Given the description of an element on the screen output the (x, y) to click on. 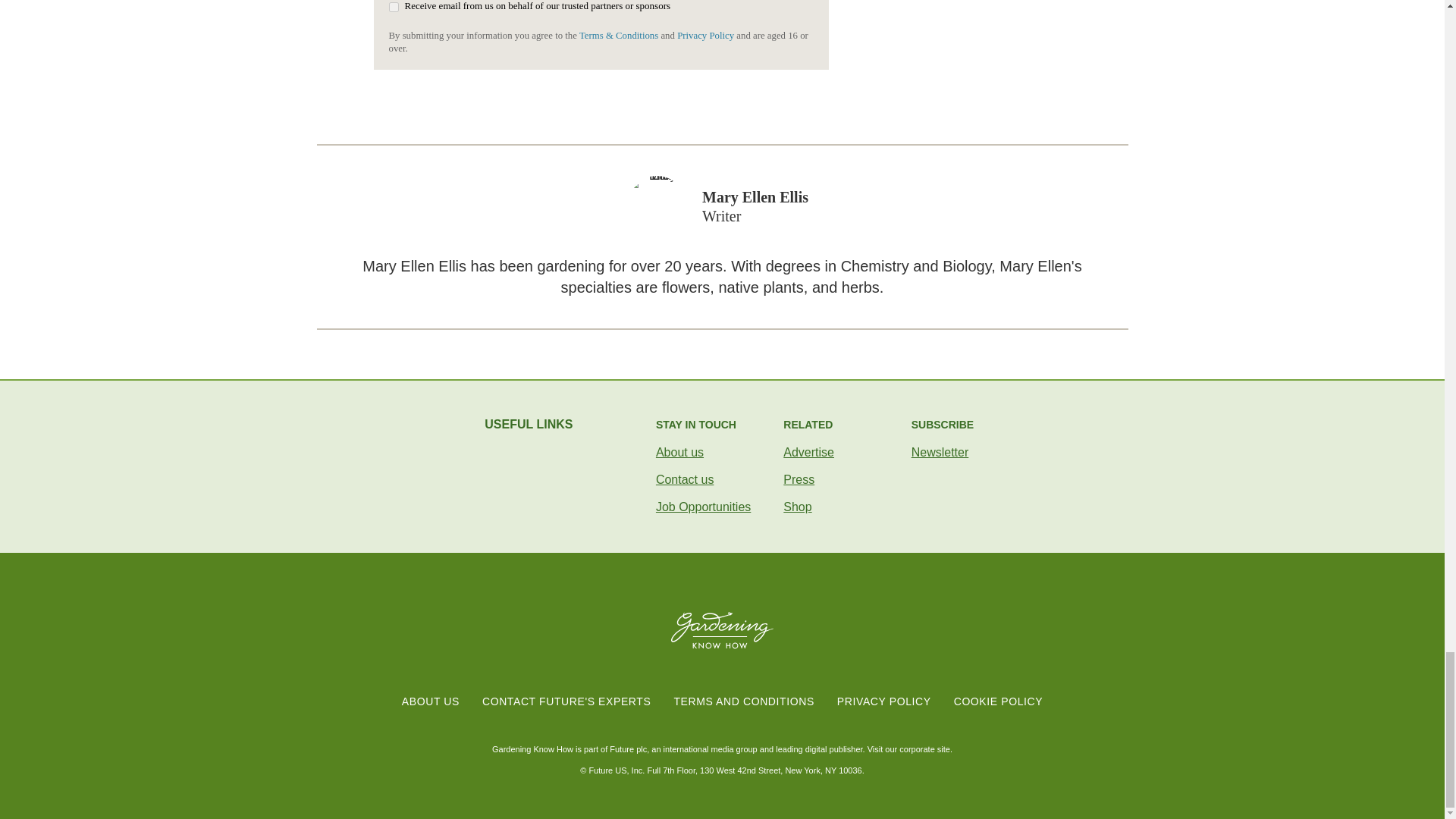
on (392, 7)
